Given the description of an element on the screen output the (x, y) to click on. 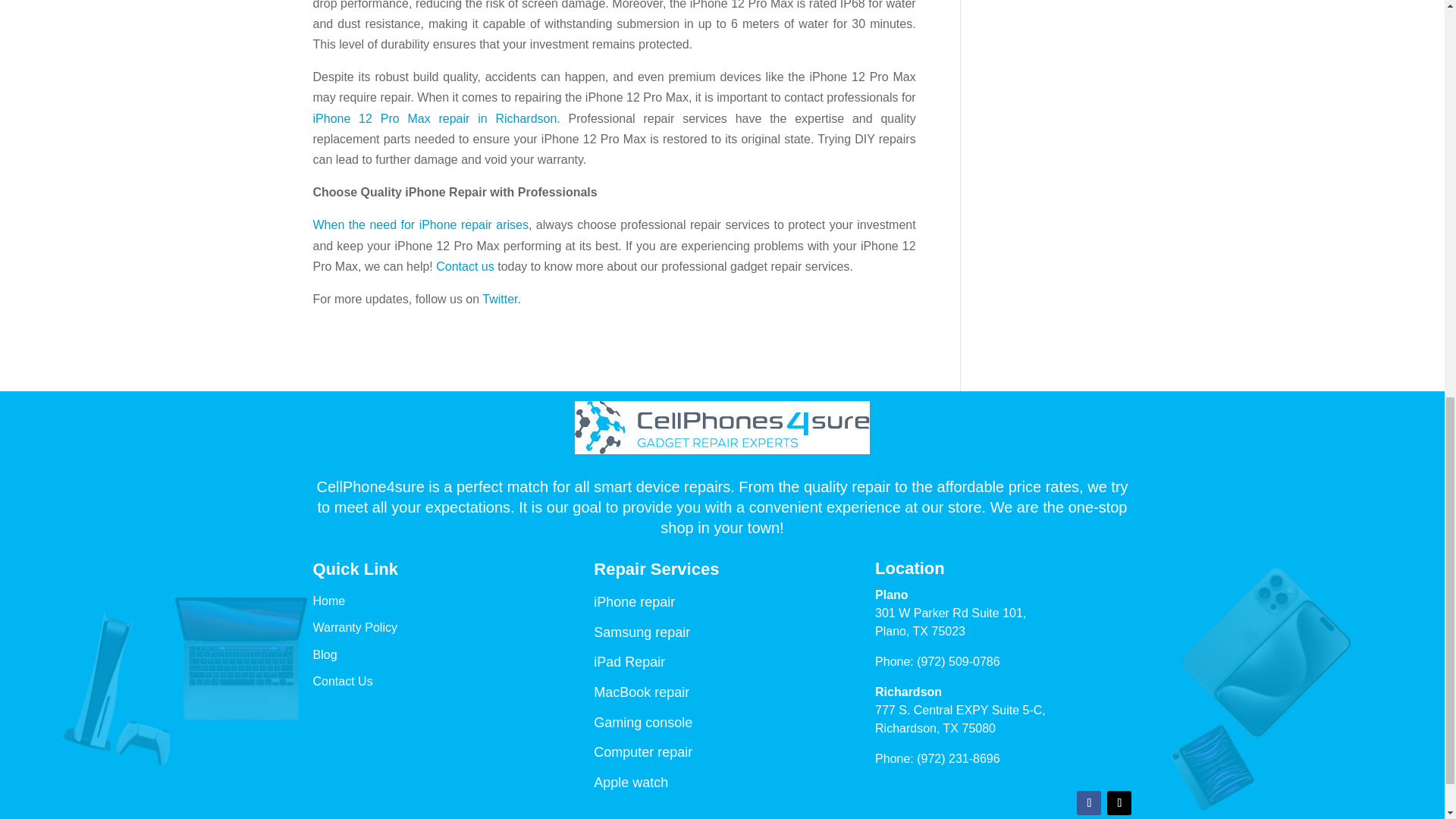
Follow on X (1118, 802)
logo (722, 427)
Follow on Facebook (1088, 802)
